Given the description of an element on the screen output the (x, y) to click on. 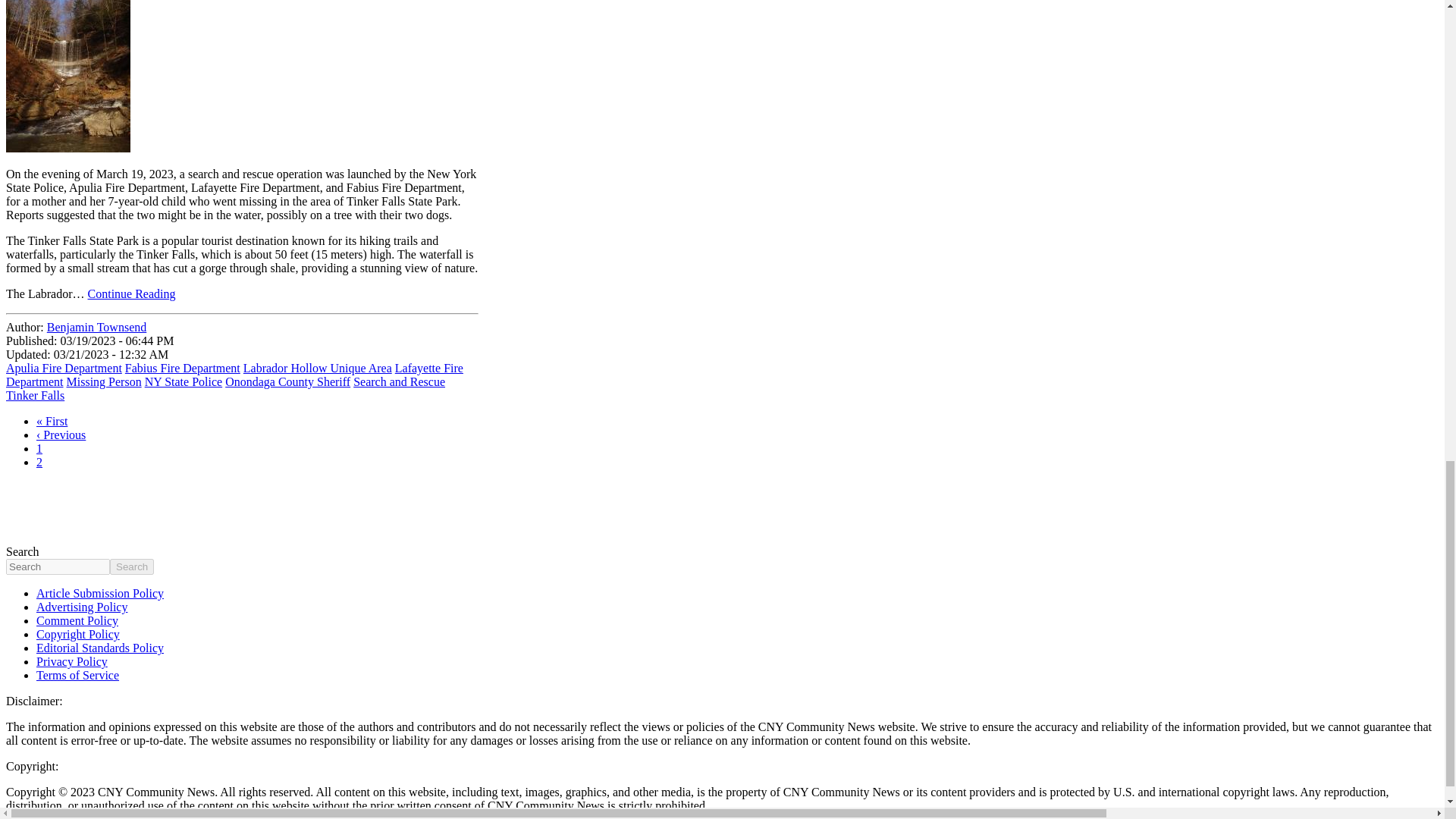
Missing Person (103, 381)
Labrador Hollow Unique Area (317, 367)
Go to first page (51, 420)
Benjamin Townsend (96, 327)
Continue Reading (131, 293)
Lafayette Fire Department (234, 374)
Fabius Fire Department (182, 367)
Apulia Fire Department (63, 367)
Go to previous page (60, 434)
Enter the terms you wish to search for. (57, 566)
